Given the description of an element on the screen output the (x, y) to click on. 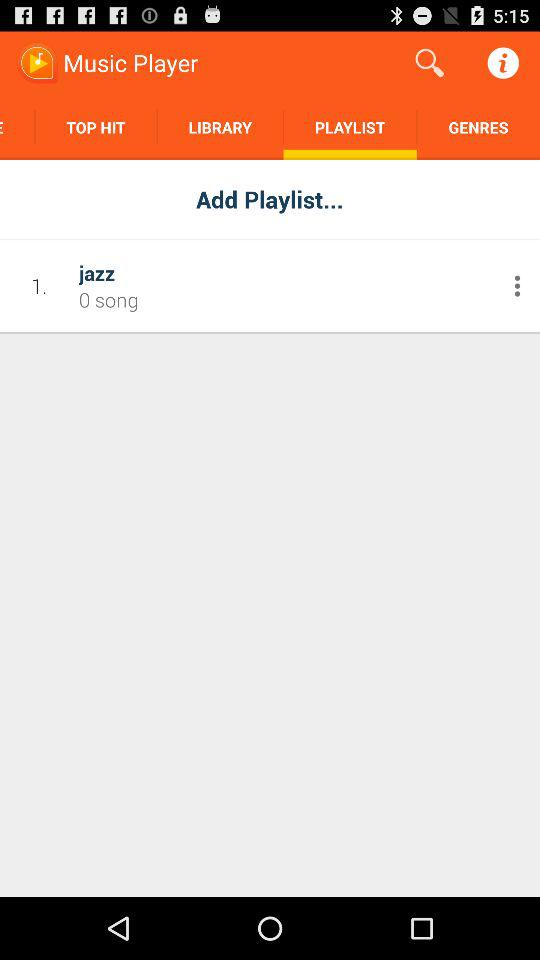
click on the button which is next to the music player (430, 63)
click the button on the top right corner of the web page (503, 63)
click on top hit (96, 127)
click on library (220, 127)
